Given the description of an element on the screen output the (x, y) to click on. 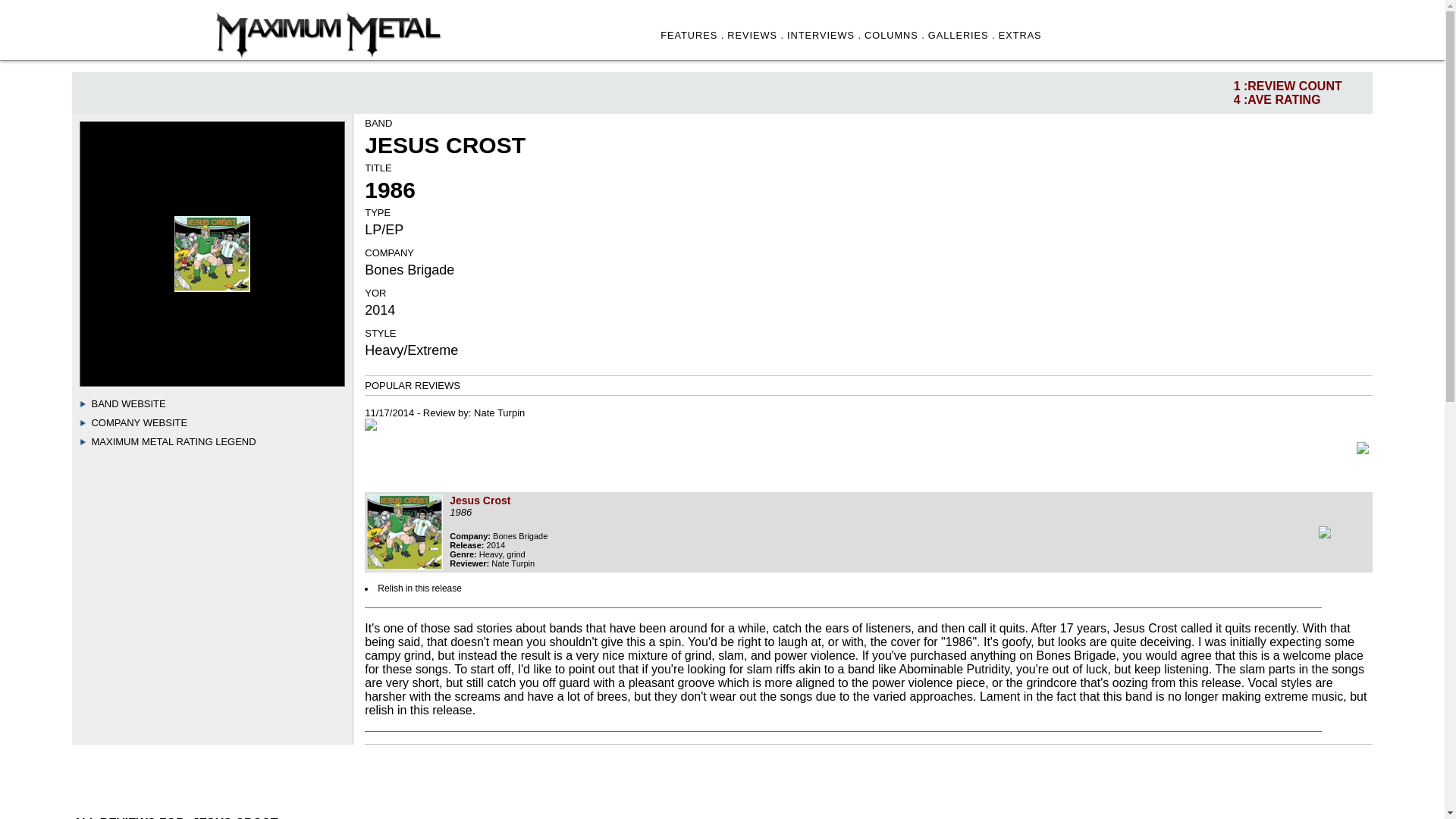
INTERVIEWS . (824, 34)
COLUMNS . (894, 34)
REVIEWS . (755, 34)
Nate Turpin (499, 412)
EXTRAS (1020, 34)
COMPANY WEBSITE (138, 422)
FEATURES . (692, 34)
GALLERIES . (961, 34)
BAND WEBSITE (127, 403)
